Given the description of an element on the screen output the (x, y) to click on. 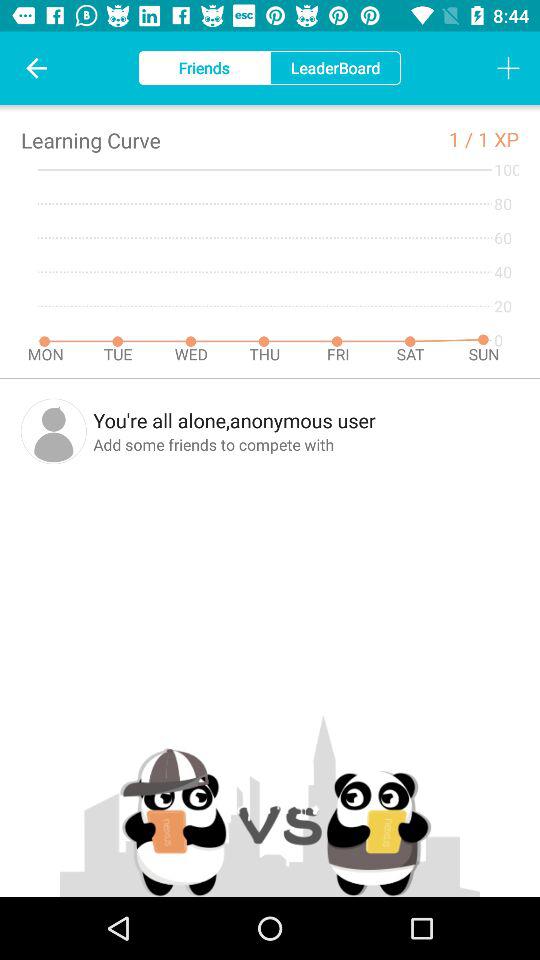
tap the icon next to the learning curve (463, 138)
